Given the description of an element on the screen output the (x, y) to click on. 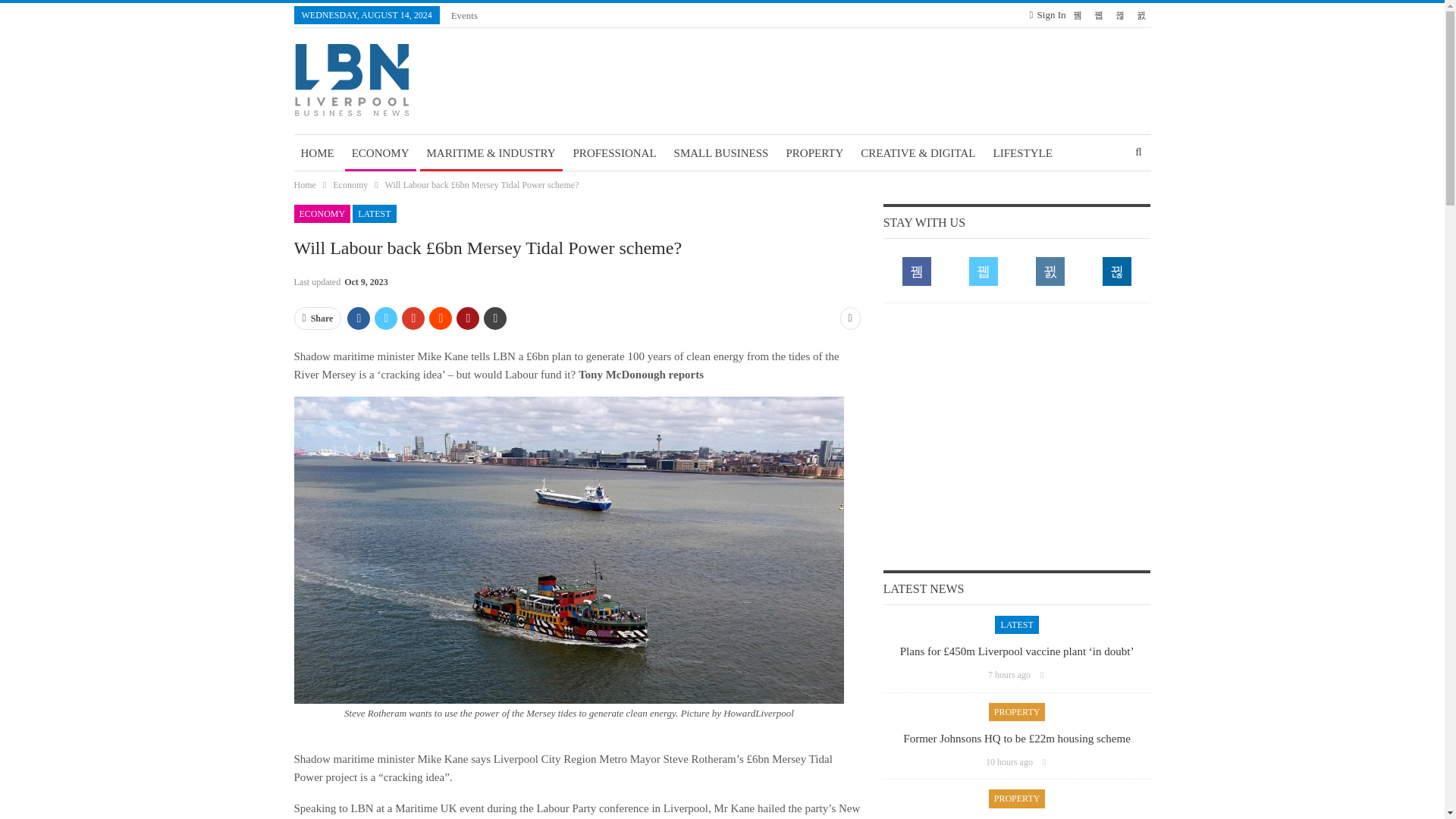
HOME (317, 153)
PROFESSIONAL (614, 153)
Events (464, 15)
Advertisement (1016, 436)
Sign In (1047, 14)
PROPERTY (814, 153)
LIFESTYLE (1023, 153)
SMALL BUSINESS (721, 153)
ECONOMY (380, 153)
